Given the description of an element on the screen output the (x, y) to click on. 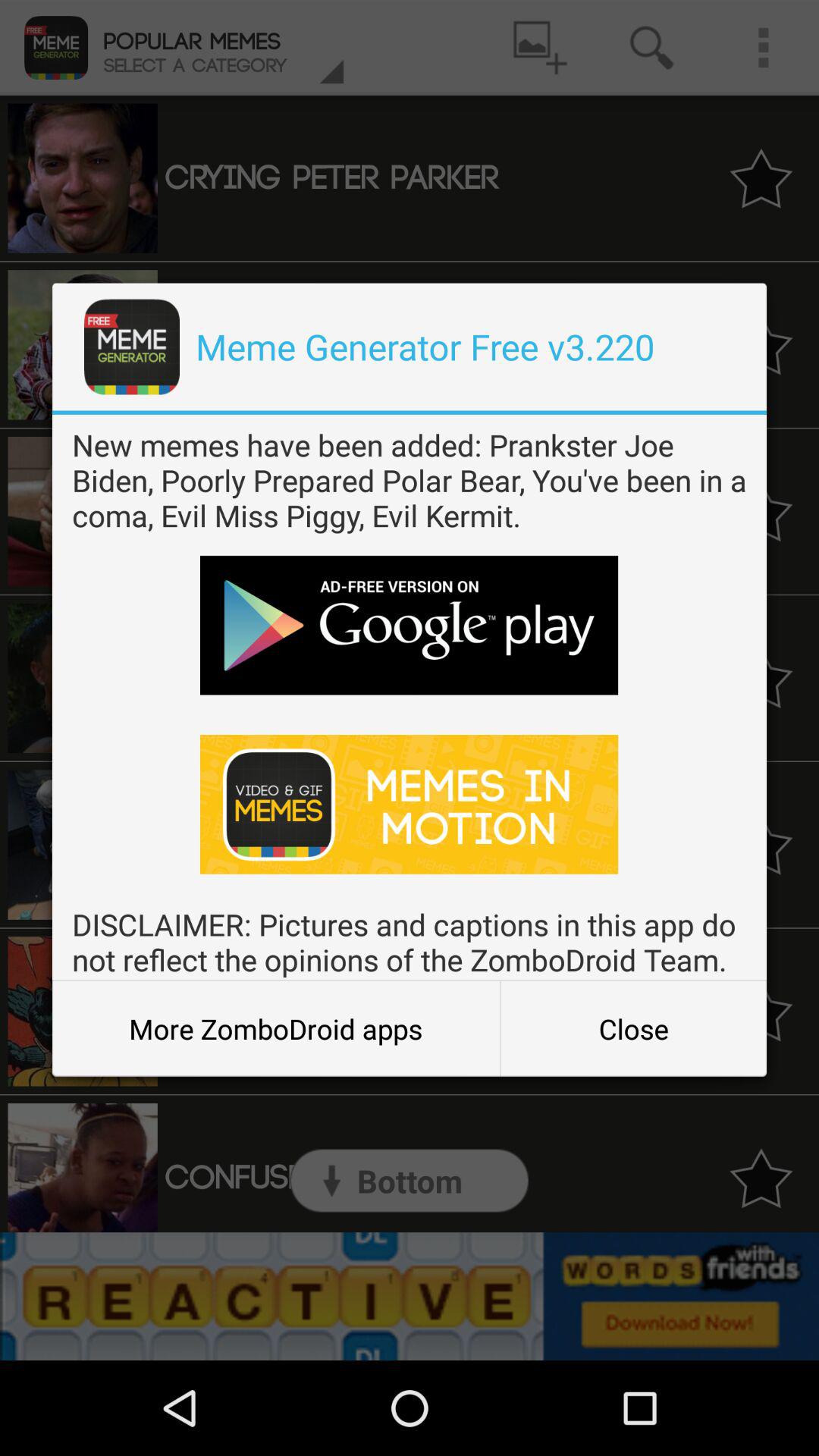
launch the close icon (633, 1028)
